Given the description of an element on the screen output the (x, y) to click on. 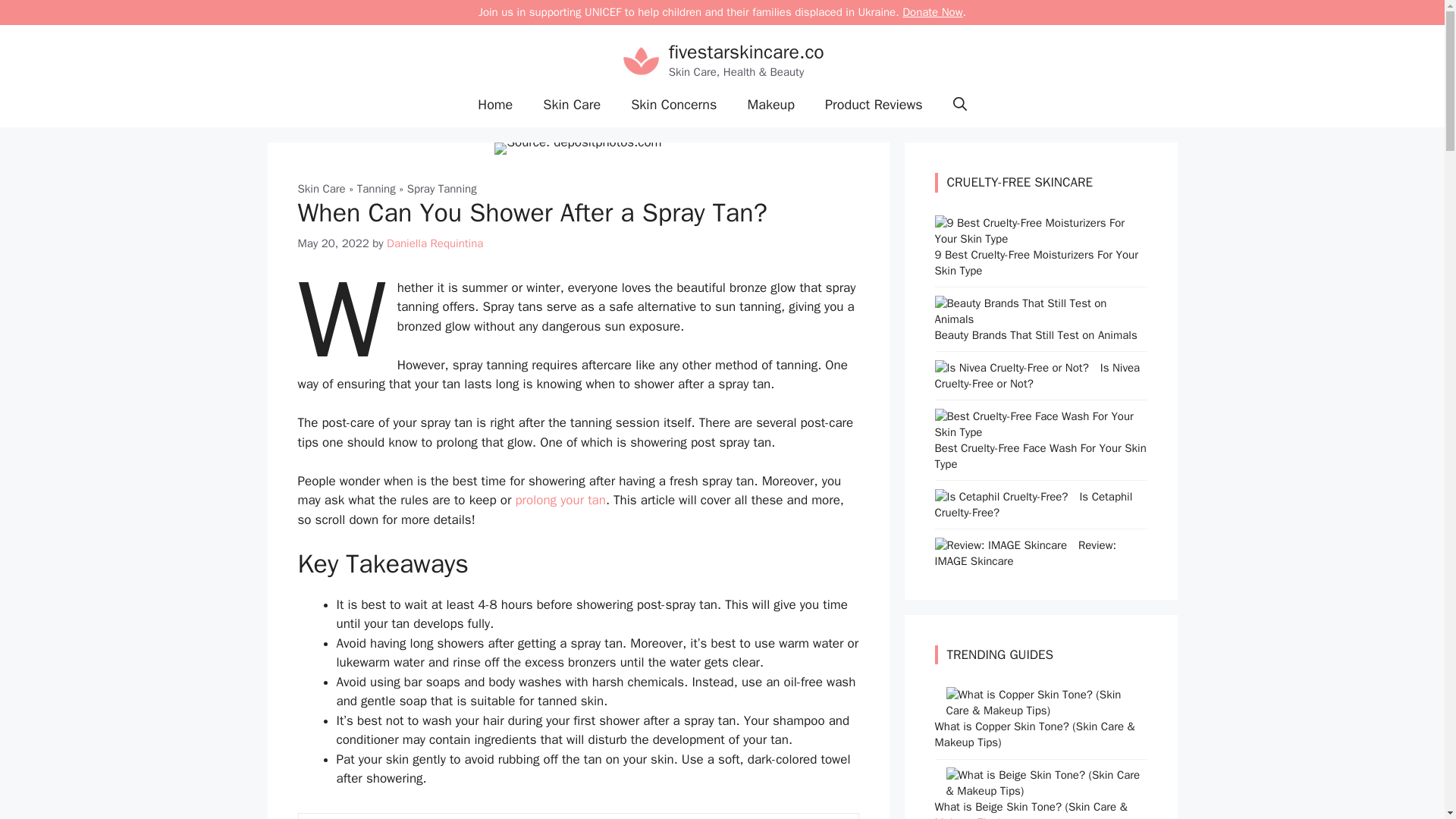
Home (495, 104)
Best Cruelty-Free Face Wash For Your Skin Type (1034, 431)
Product Reviews (873, 104)
Spray Tanning (442, 188)
Makeup (770, 104)
Skin Care (571, 104)
Skin Care (321, 188)
View all posts by Daniella Requintina (435, 243)
prolong your tan (560, 499)
Is Nivea Cruelty-Free or Not? (1010, 367)
Donate Now (932, 11)
Review: IMAGE Skincare (1000, 545)
9 Best Cruelty-Free Moisturizers For Your Skin Type (1034, 238)
Is Cetaphil Cruelty-Free? (1000, 496)
Tanning (376, 188)
